Given the description of an element on the screen output the (x, y) to click on. 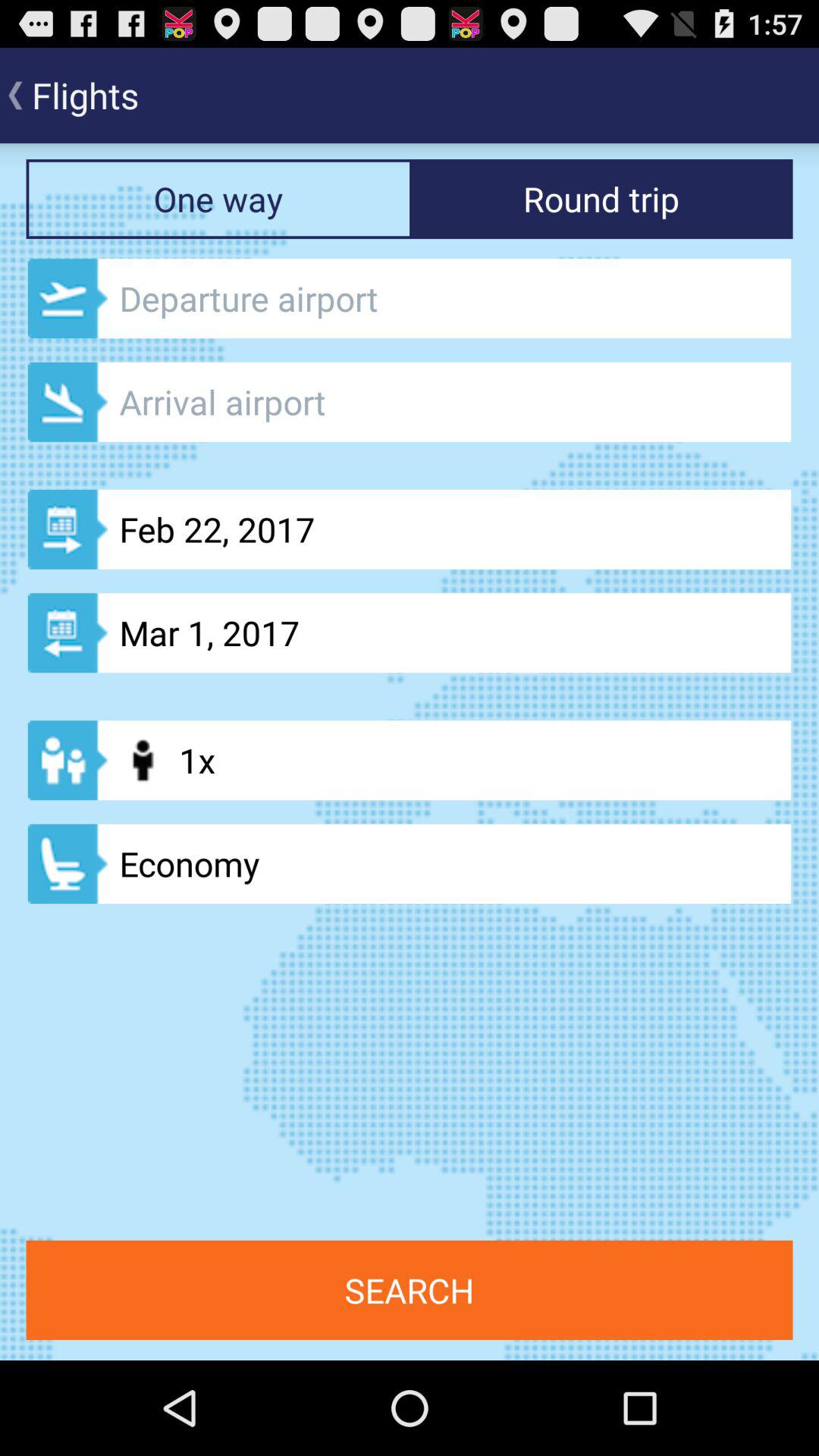
textbox to enter depature airport (409, 298)
